Given the description of an element on the screen output the (x, y) to click on. 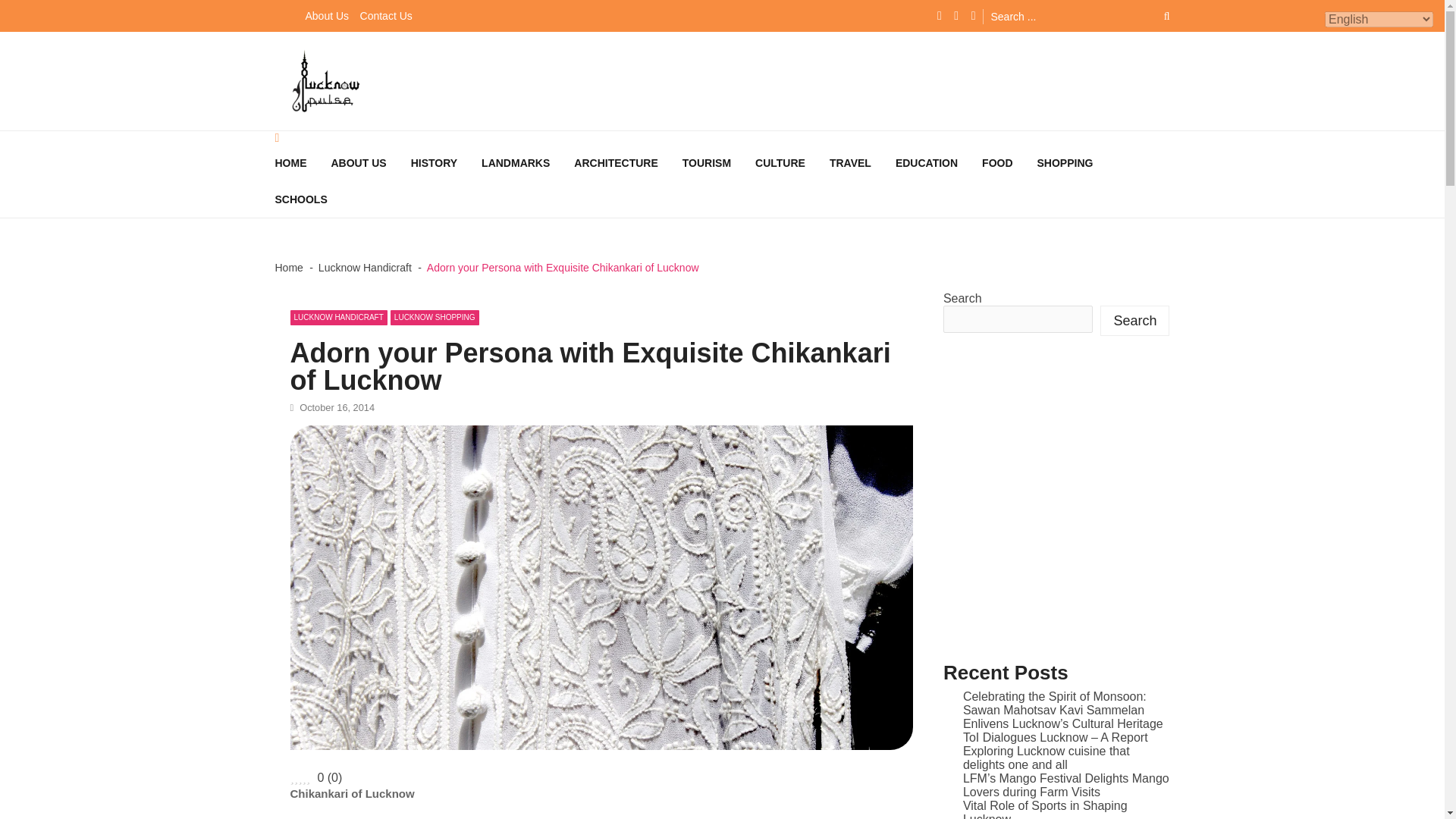
CULTURE (792, 162)
LANDMARKS (527, 162)
Contact Us (389, 15)
ABOUT US (370, 162)
HISTORY (445, 162)
About Us (330, 15)
EDUCATION (938, 162)
TOURISM (718, 162)
Search (1156, 15)
ARCHITECTURE (627, 162)
HOME (302, 162)
Search (1156, 15)
Search (1156, 15)
TRAVEL (862, 162)
Lucknow Pulse (331, 123)
